Given the description of an element on the screen output the (x, y) to click on. 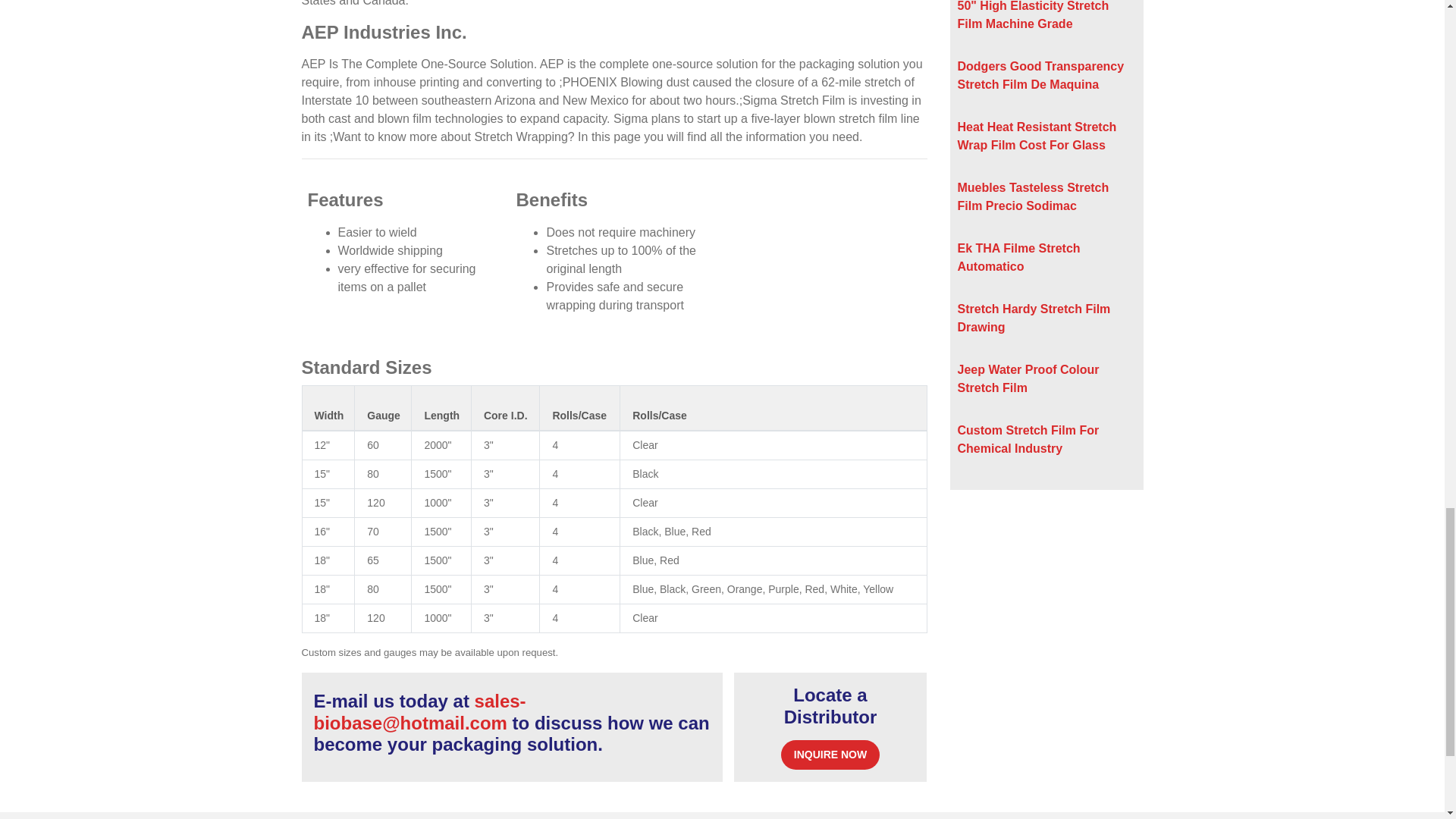
Muebles Tasteless Stretch Film Precio Sodimac (1032, 196)
Dodgers Good Transparency Stretch Film De Maquina (1040, 74)
INQUIRE NOW (829, 754)
Heat Heat Resistant Stretch Wrap Film Cost For Glass (1036, 135)
50" High Elasticity Stretch Film Machine Grade (1032, 15)
